Given the description of an element on the screen output the (x, y) to click on. 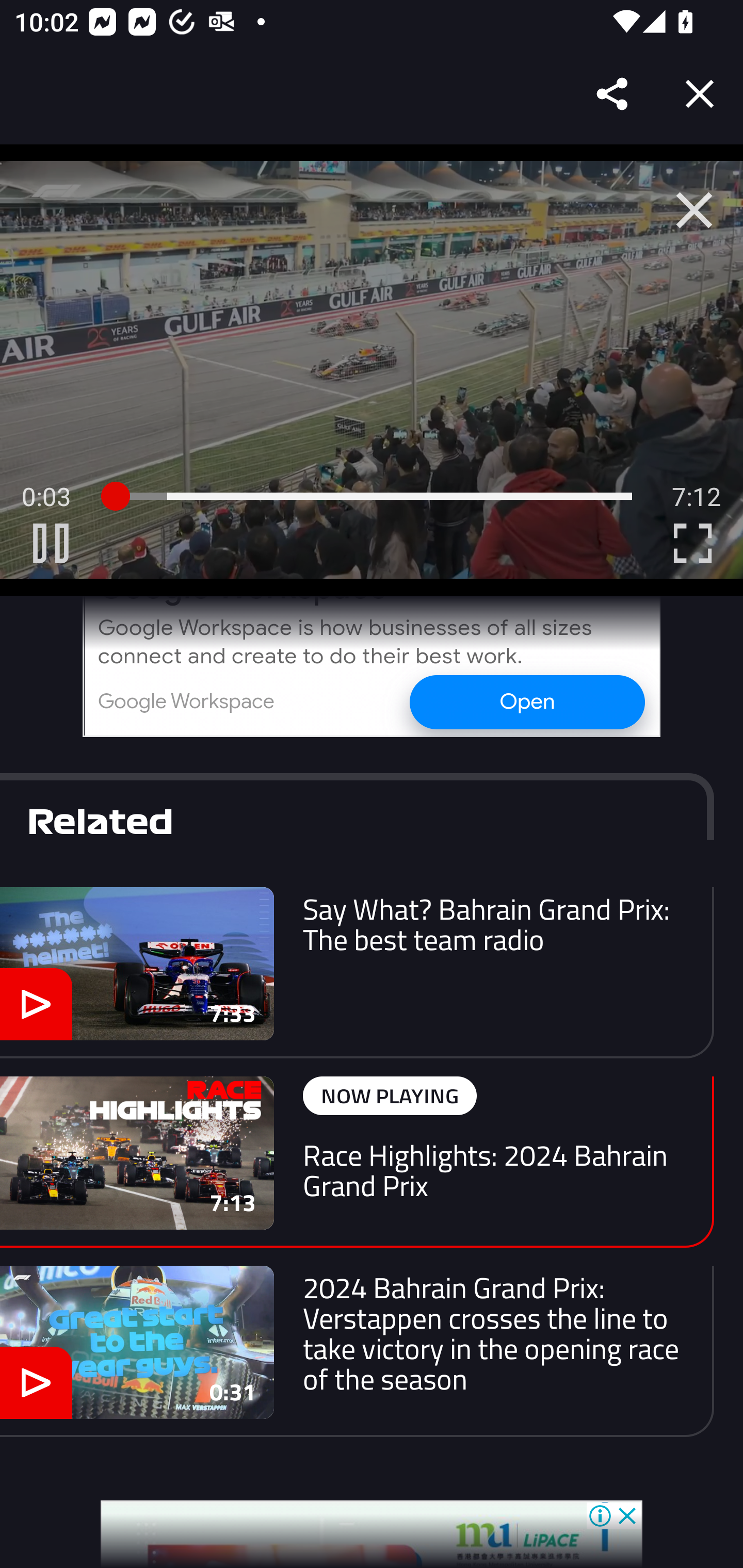
Share (612, 93)
Close (699, 93)
 Close (693, 210)
B Pause (50, 543)
C Enter Fullscreen (692, 543)
Open (526, 701)
Google Workspace (186, 701)
